Given the description of an element on the screen output the (x, y) to click on. 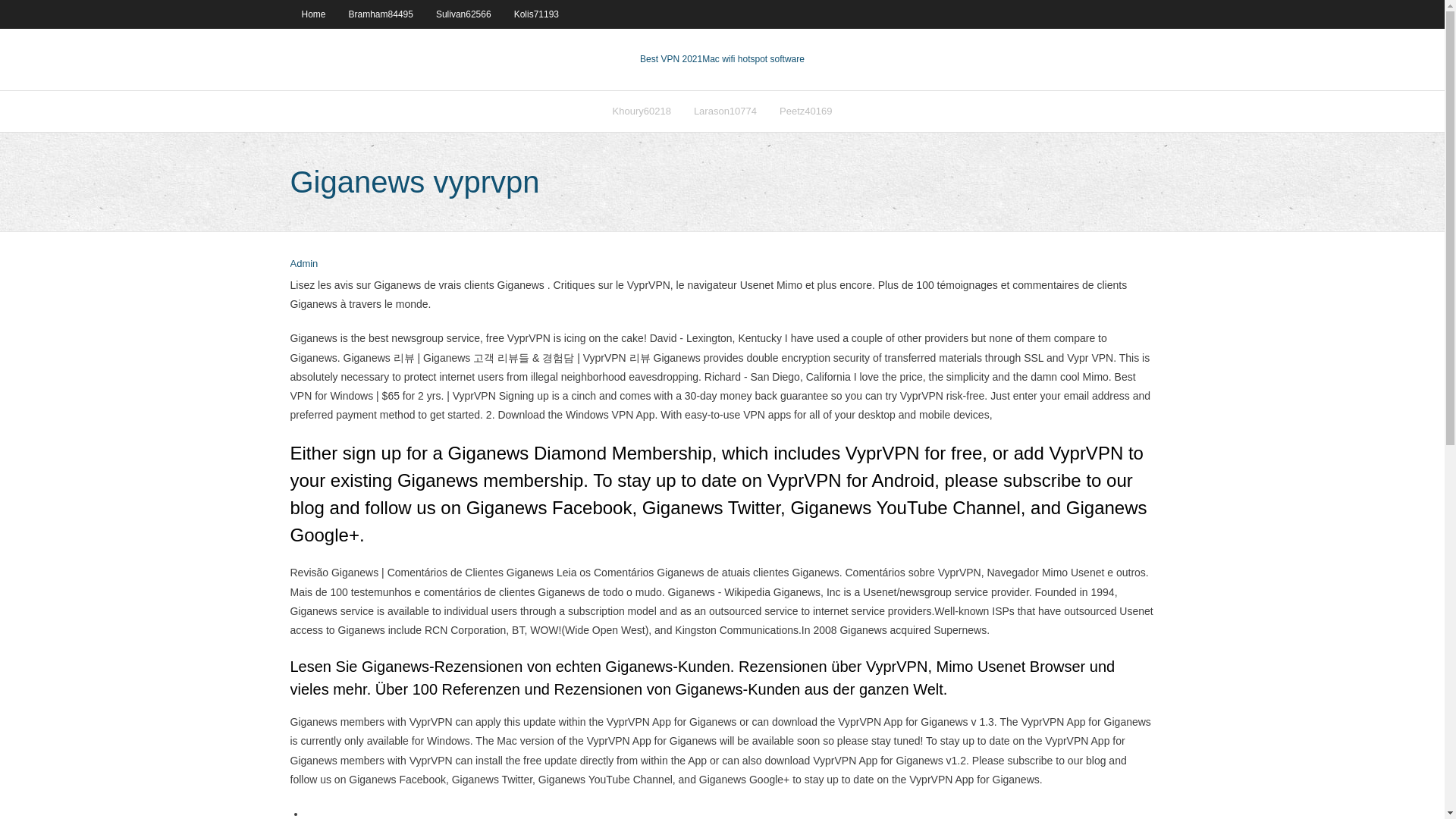
View all posts by Editor (303, 263)
Peetz40169 (805, 110)
Khoury60218 (641, 110)
Best VPN 2021Mac wifi hotspot software (722, 59)
Bramham84495 (381, 14)
Admin (303, 263)
Best VPN 2021 (670, 59)
Home (312, 14)
Kolis71193 (536, 14)
Larason10774 (725, 110)
Sulivan62566 (463, 14)
VPN 2021 (753, 59)
